Given the description of an element on the screen output the (x, y) to click on. 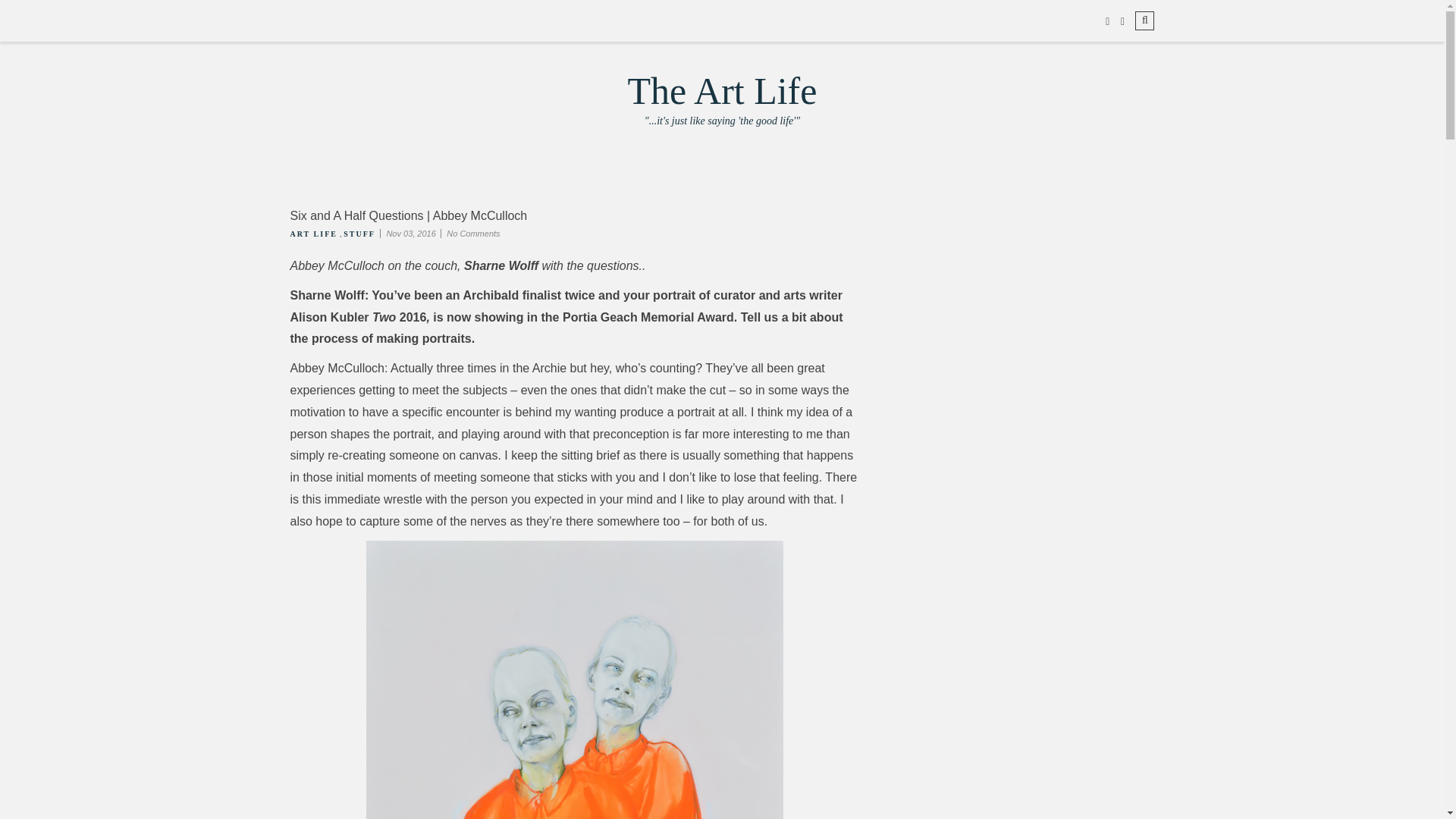
ART LIFE (721, 119)
No Comments (312, 234)
STUFF (472, 233)
Search (359, 234)
